Given the description of an element on the screen output the (x, y) to click on. 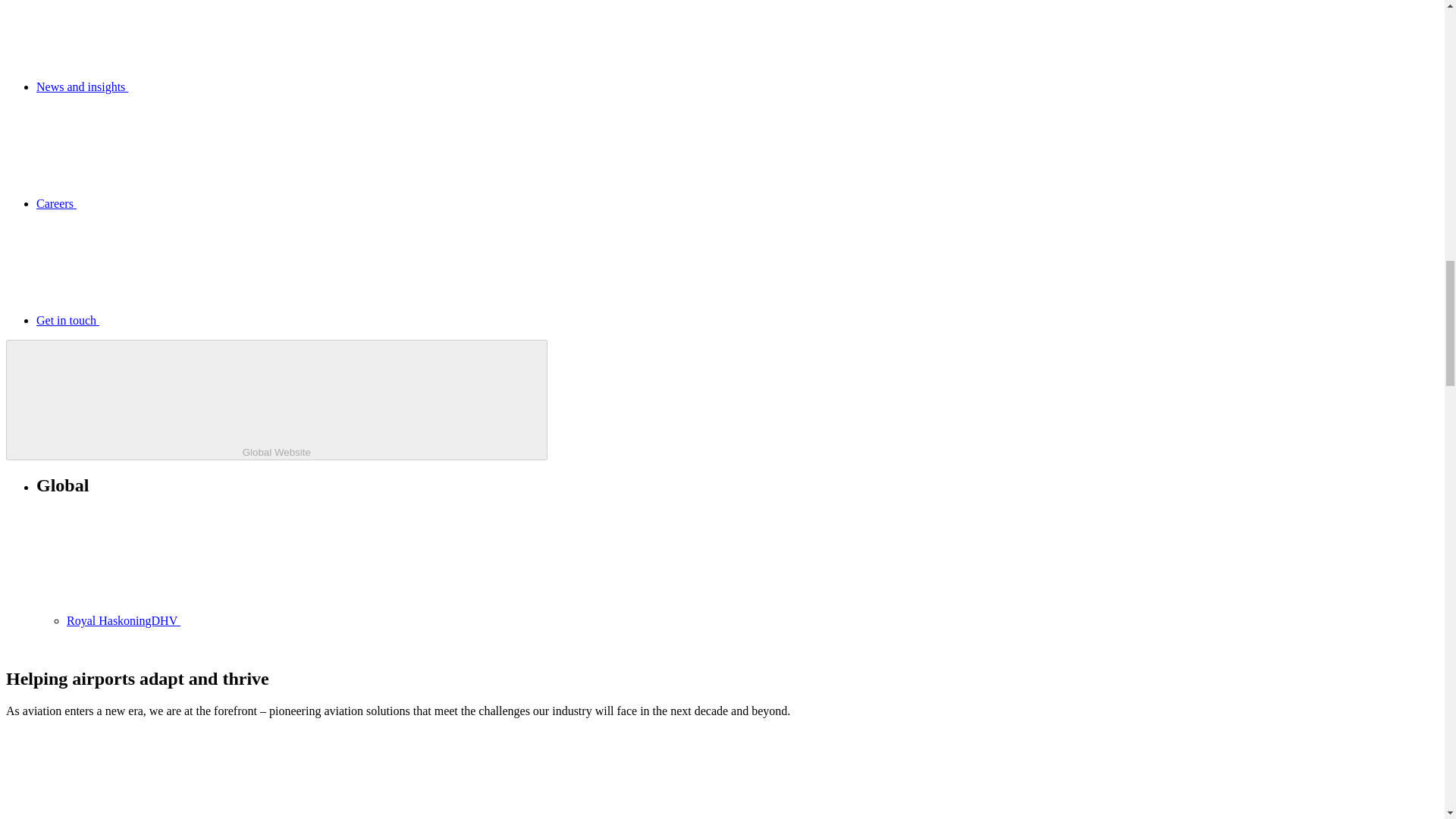
Careers (170, 203)
Royal HaskoningDHV (236, 620)
Global Website (276, 399)
News and insights (195, 86)
Get in touch (181, 319)
